Given the description of an element on the screen output the (x, y) to click on. 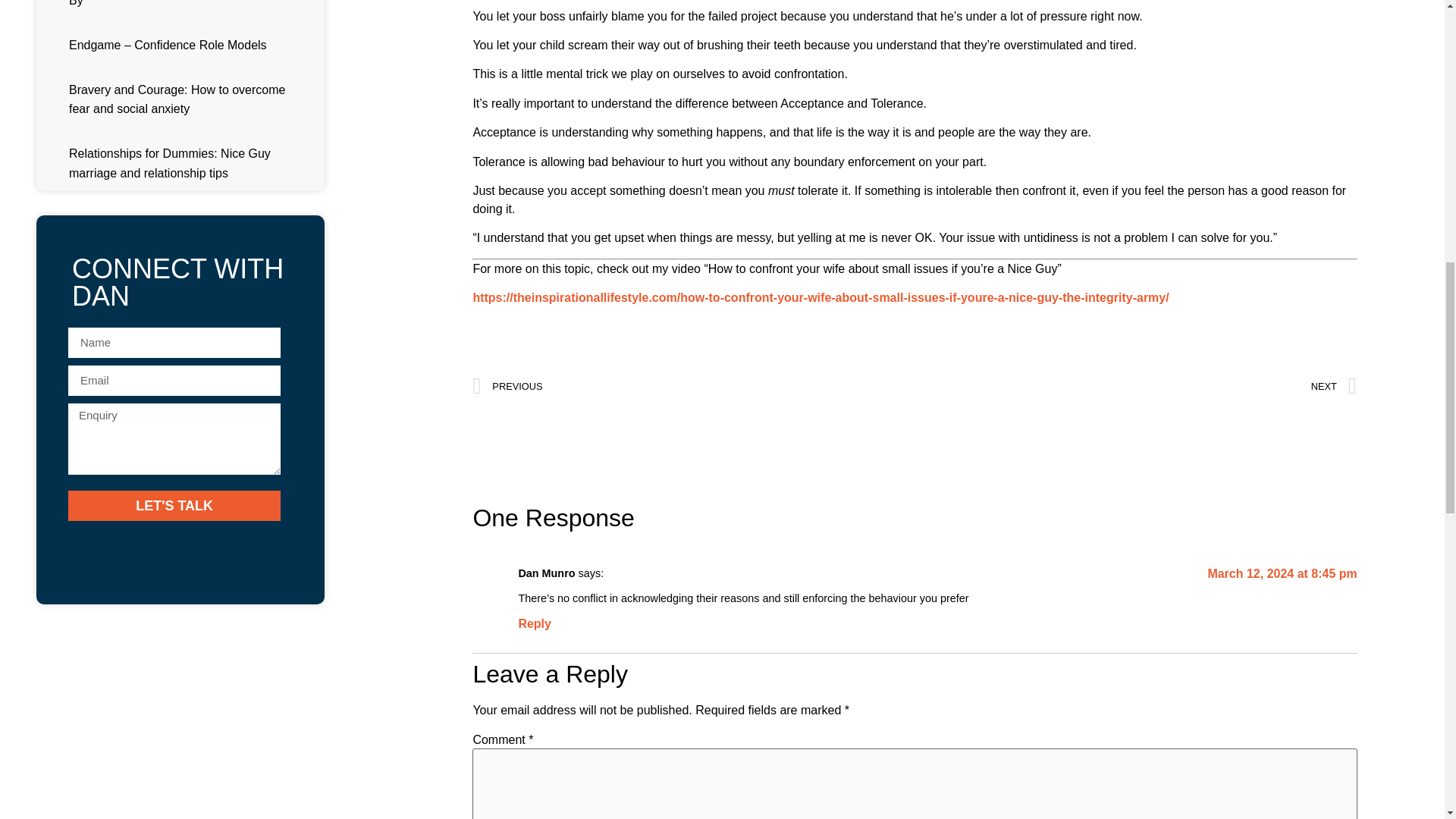
Finding Your Integrity: Core Values to Live By (181, 2)
LET'S TALK (174, 505)
Bravery and Courage: How to overcome fear and social anxiety (176, 99)
